Given the description of an element on the screen output the (x, y) to click on. 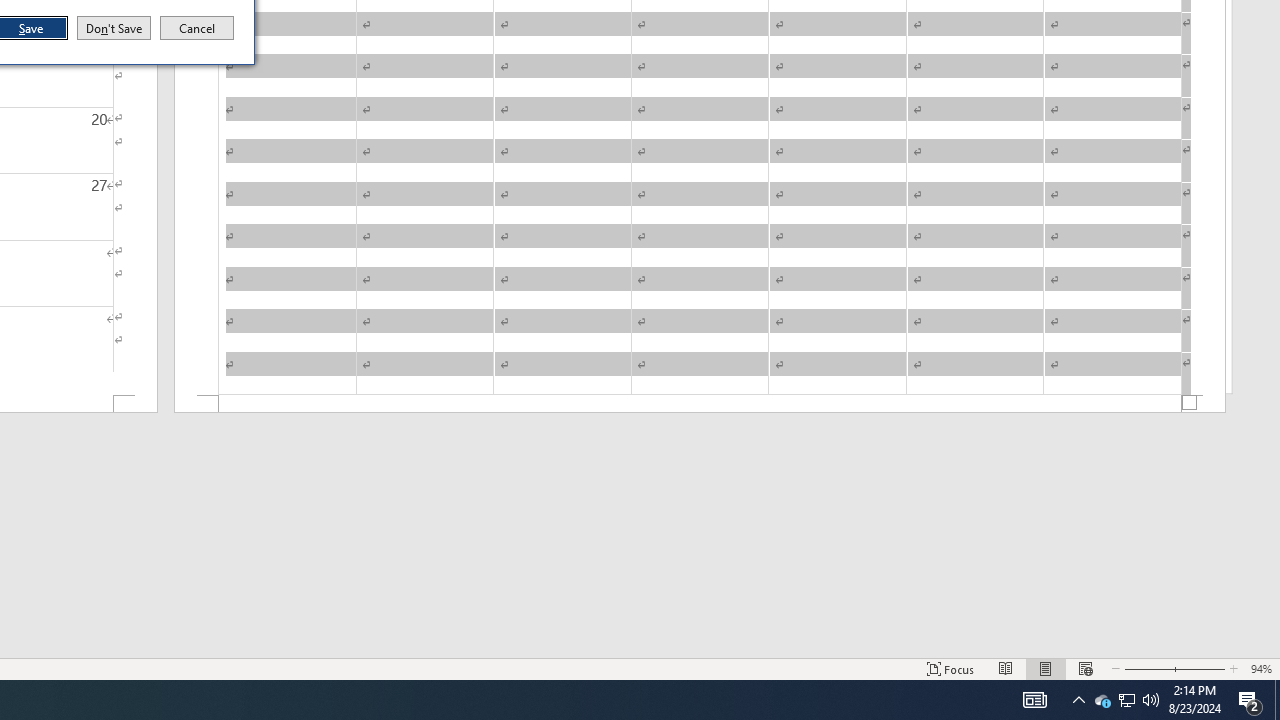
User Promoted Notification Area (1126, 699)
Zoom Out (1147, 668)
Show desktop (1277, 699)
Read Mode (1005, 668)
AutomationID: 4105 (1034, 699)
